Given the description of an element on the screen output the (x, y) to click on. 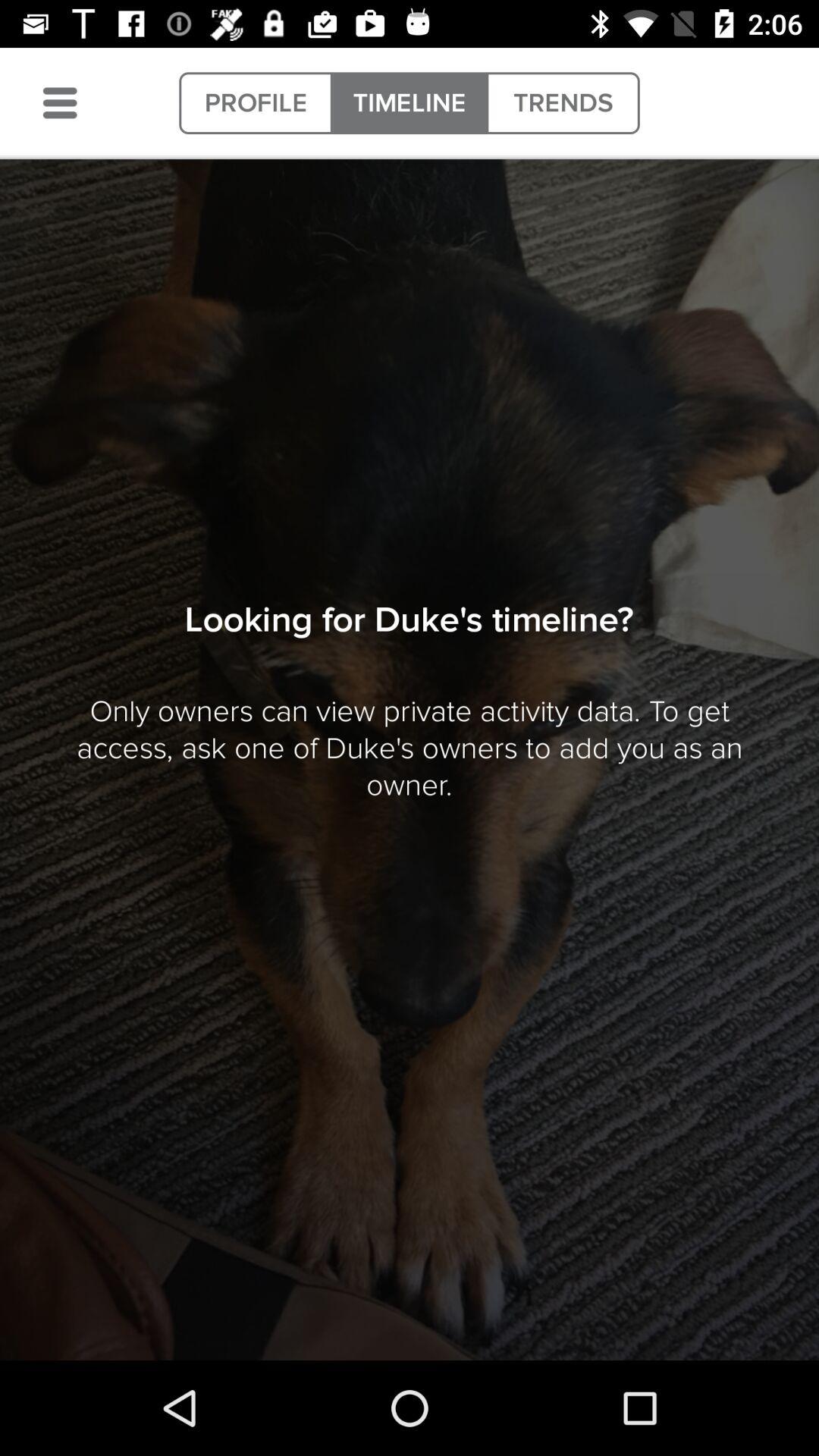
scroll until the profile (255, 103)
